Given the description of an element on the screen output the (x, y) to click on. 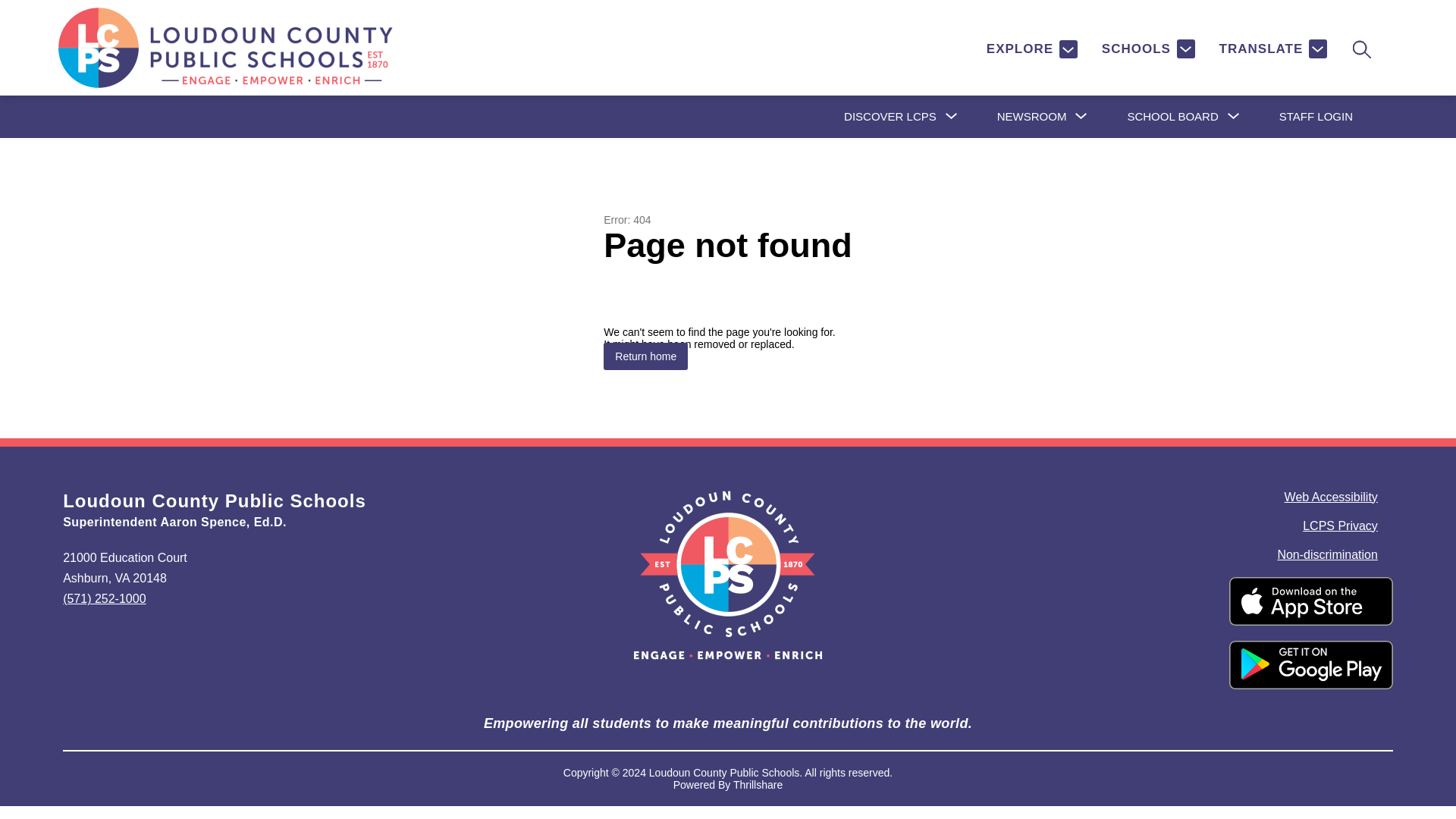
EXPLORE (1032, 48)
TRANSLATE (1273, 48)
SCHOOLS (1148, 48)
SEARCH (1361, 48)
